Given the description of an element on the screen output the (x, y) to click on. 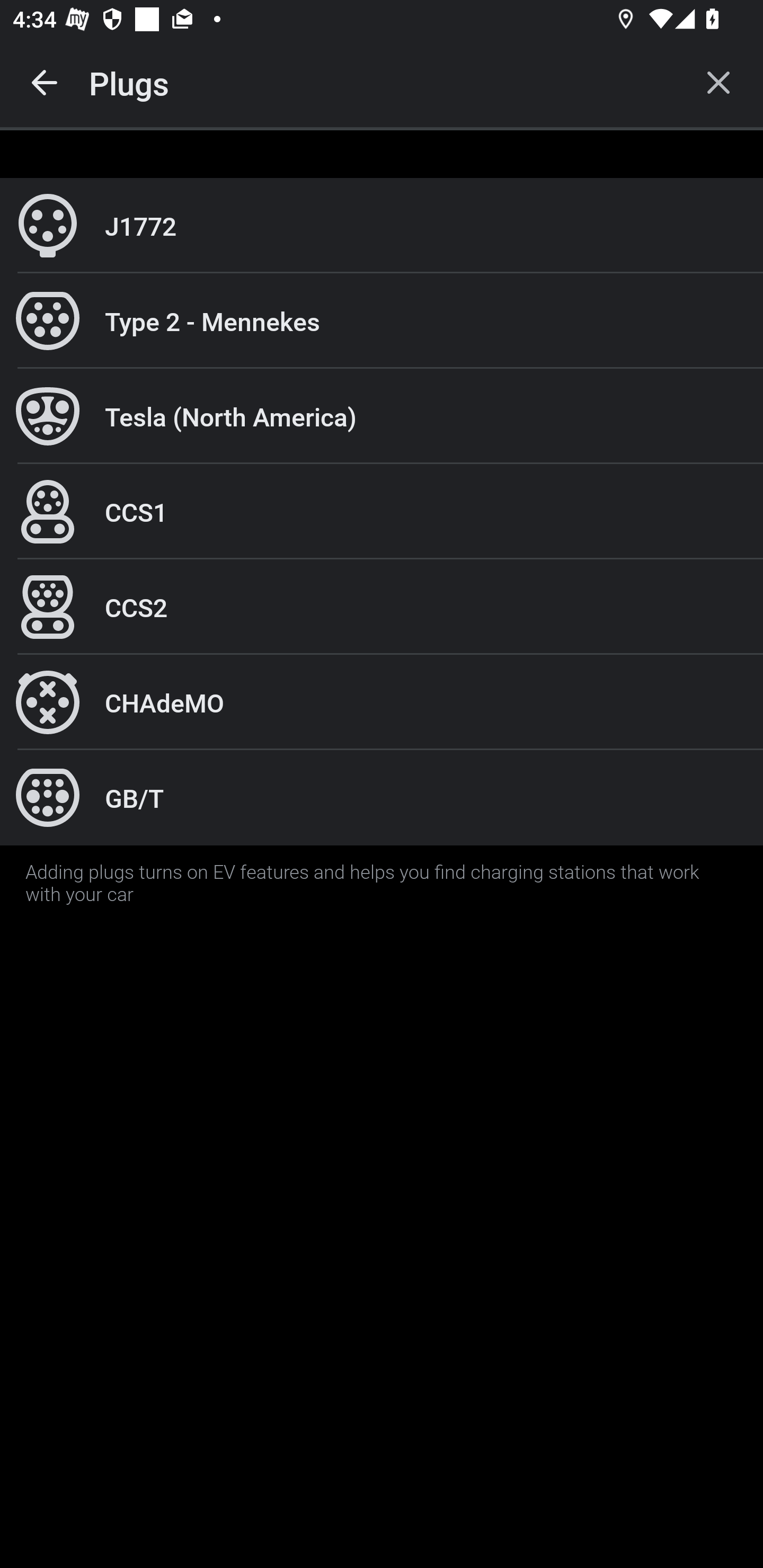
J1772 (381, 225)
Type 2 - Mennekes (381, 320)
Tesla (North America) (381, 416)
CCS1 (381, 511)
CCS2 (381, 607)
CHAdeMO (381, 702)
GB/T (381, 797)
ACTION_CELL_ICON Shut off ACTION_CELL_TEXT (381, 891)
